Given the description of an element on the screen output the (x, y) to click on. 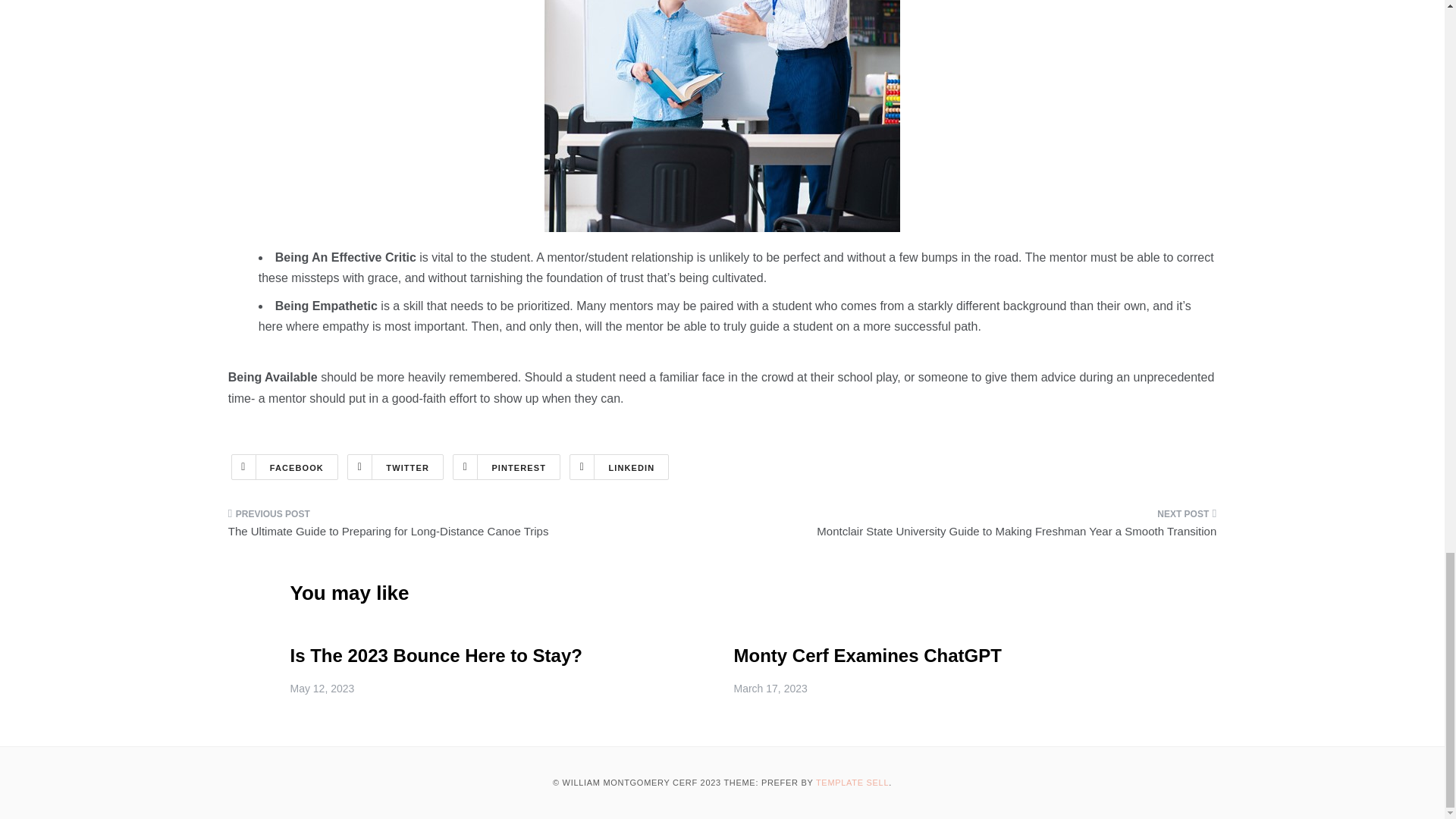
Is The 2023 Bounce Here to Stay? (434, 655)
LINKEDIN (618, 466)
TEMPLATE SELL (851, 782)
Monty Cerf Examines ChatGPT (867, 655)
TWITTER (395, 466)
PINTEREST (506, 466)
FACEBOOK (284, 466)
